Given the description of an element on the screen output the (x, y) to click on. 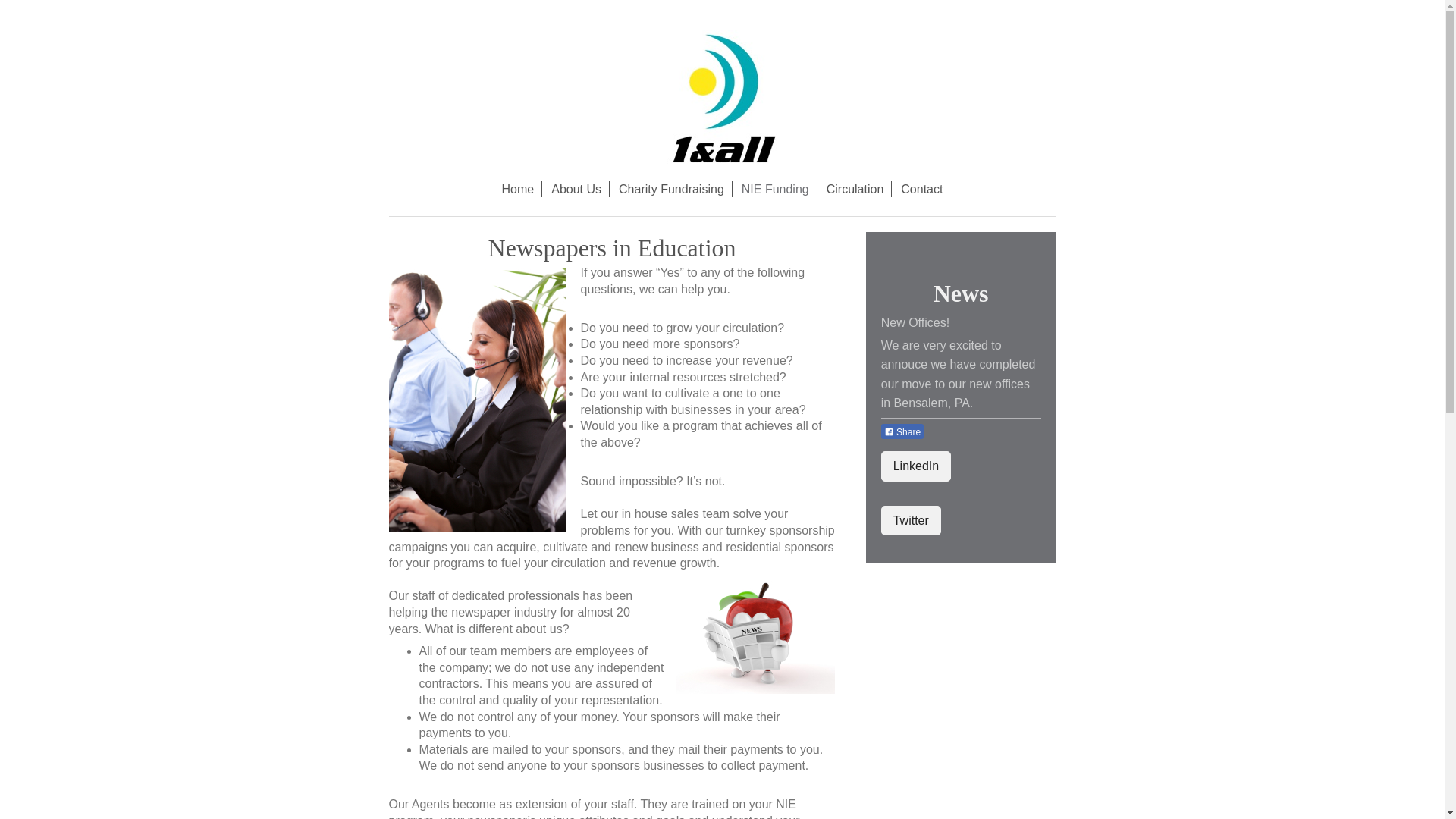
About Us Element type: text (576, 189)
Circulation Element type: text (855, 189)
Twitter Element type: text (911, 520)
Home Element type: text (518, 189)
Share Element type: text (902, 431)
Contact Element type: text (921, 189)
NIE Funding Element type: text (775, 189)
LinkedIn Element type: text (916, 466)
Charity Fundraising Element type: text (671, 189)
